Given the description of an element on the screen output the (x, y) to click on. 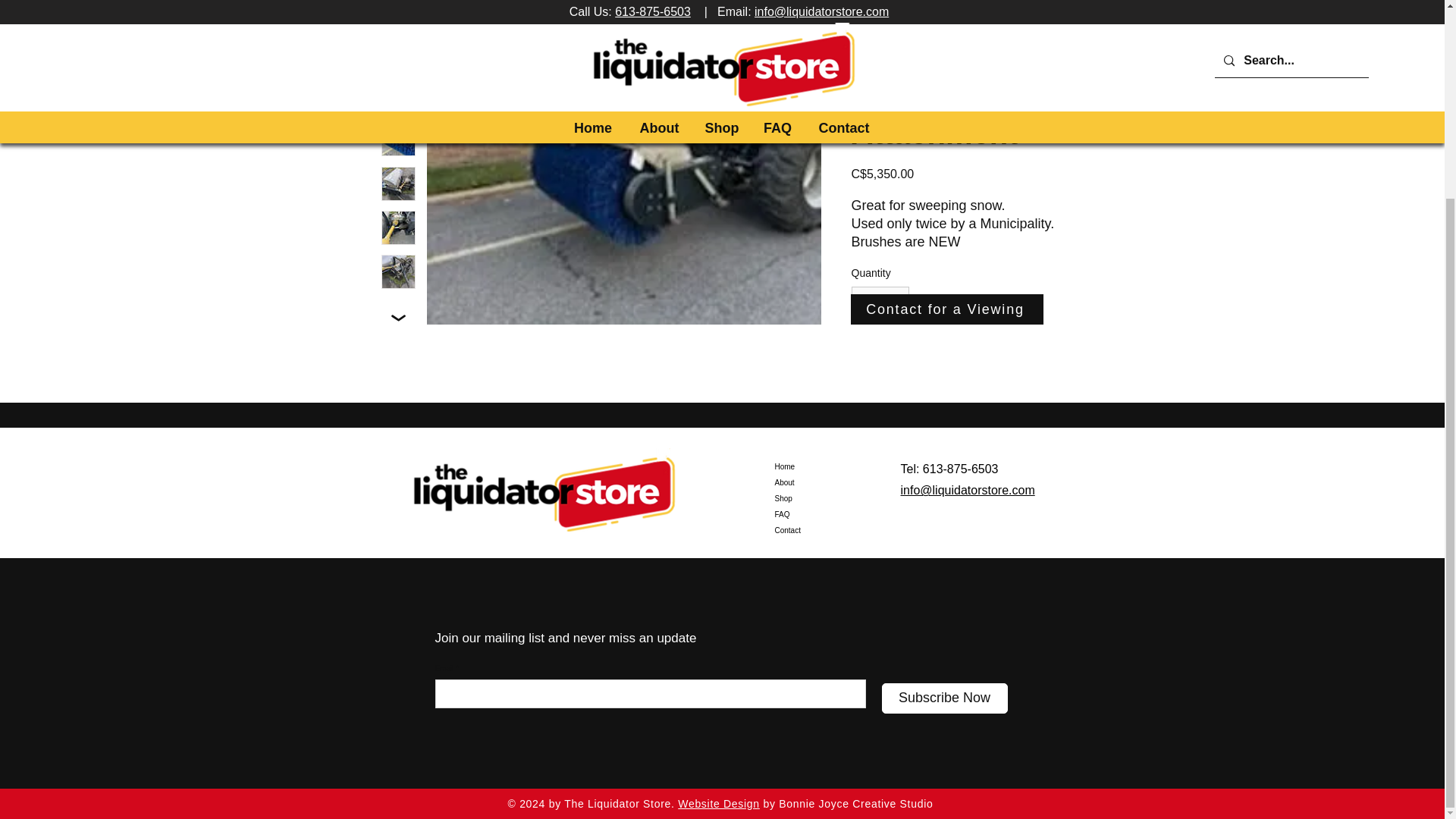
Website Design (719, 803)
Home (828, 466)
FAQ (828, 514)
Contact (828, 530)
About (828, 482)
1 (879, 301)
Contact for a Viewing (946, 309)
Subscribe Now (943, 698)
Join our mailing list and never miss an update (566, 637)
Shop (828, 498)
